Given the description of an element on the screen output the (x, y) to click on. 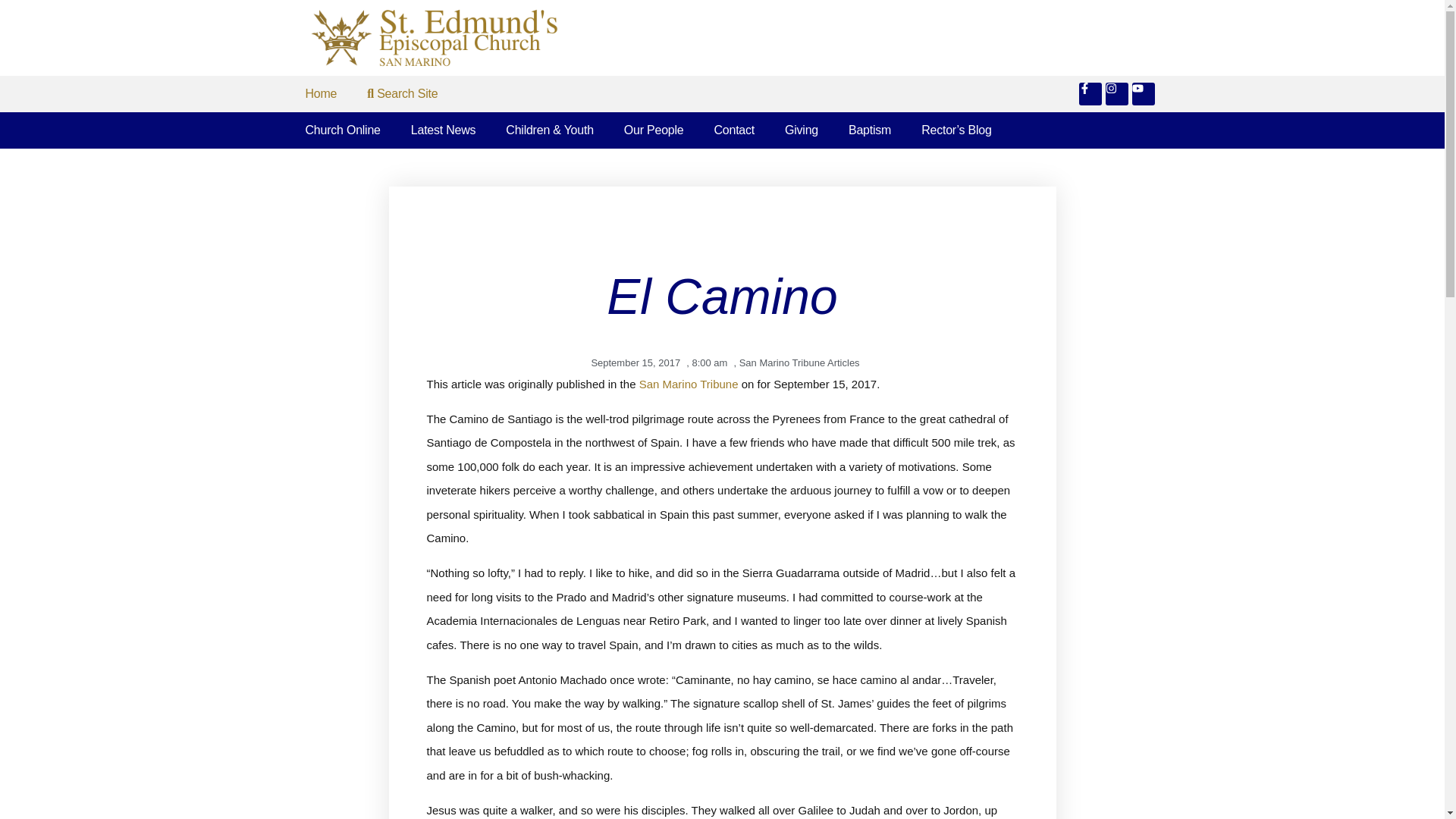
 Search Site (402, 94)
Home (320, 94)
Latest News (444, 130)
Contact (734, 130)
Baptism (868, 130)
Giving (801, 130)
Our People (653, 130)
Church Online (341, 130)
